Given the description of an element on the screen output the (x, y) to click on. 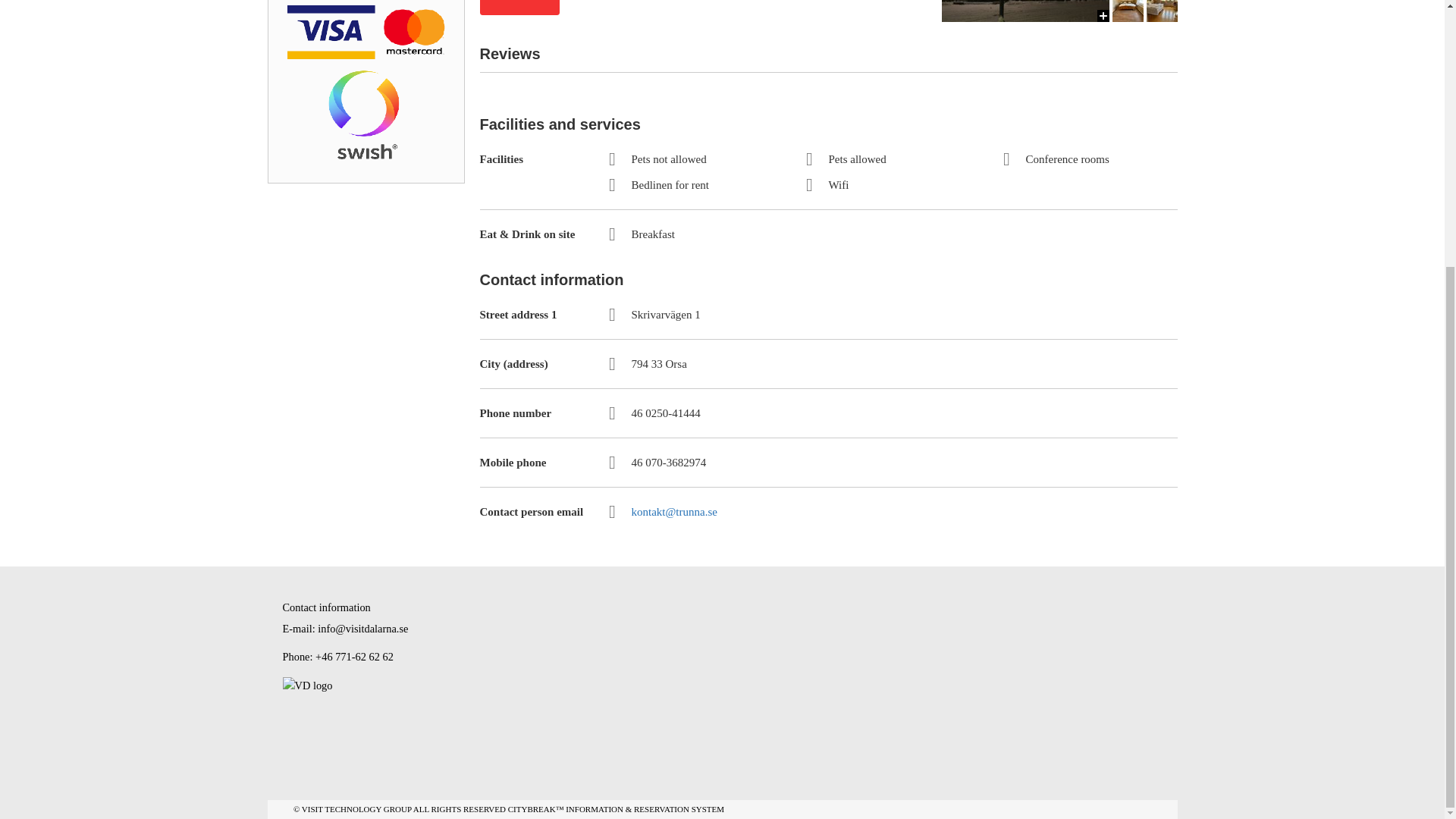
Two sofas in front of an open fire place.  (1025, 105)
Book now (519, 7)
Trunna Hostel in winter darkness.  (1025, 11)
Living room with sofa, armchairs and an open fire place.  (1025, 273)
VISIT TECHNOLOGY GROUP (356, 809)
Two storey house behind flowering hedge.  (1025, 608)
Two armchairs in front of large windows.  (1025, 440)
